Given the description of an element on the screen output the (x, y) to click on. 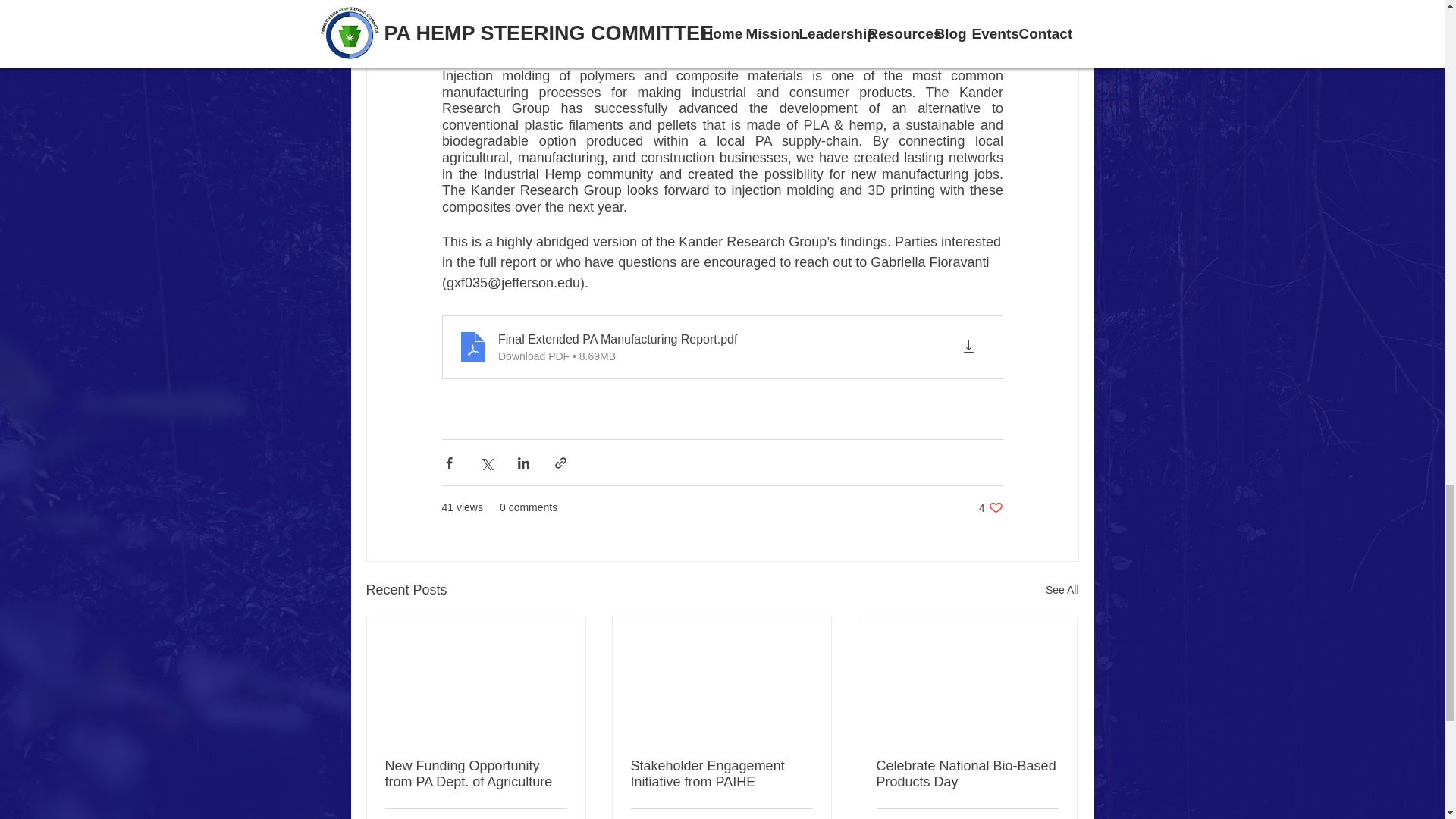
See All (990, 507)
Stakeholder Engagement Initiative from PAIHE (1061, 590)
New Funding Opportunity from PA Dept. of Agriculture (721, 774)
Celebrate National Bio-Based Products Day (476, 774)
